Given the description of an element on the screen output the (x, y) to click on. 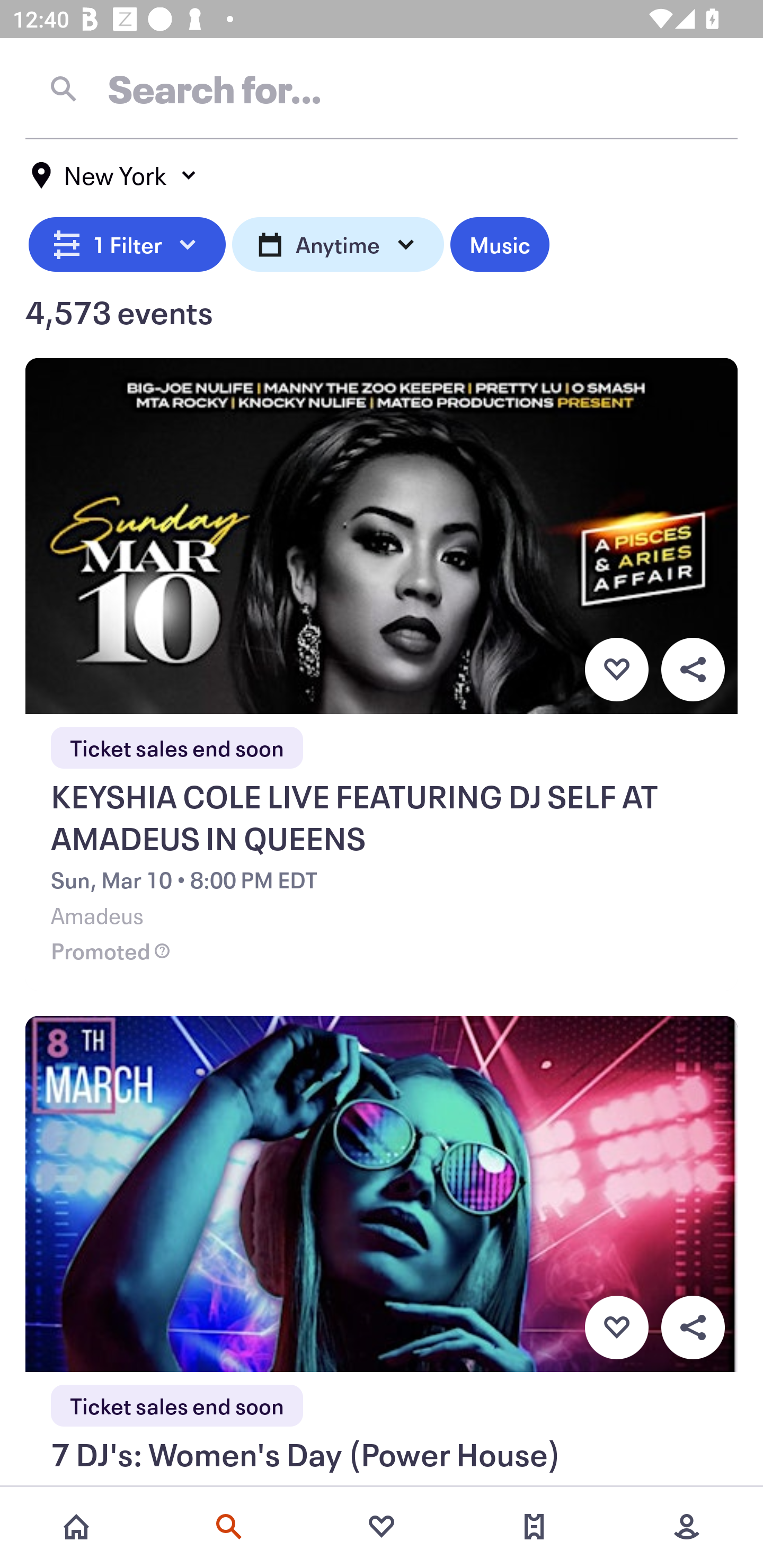
Search for… (381, 88)
New York (114, 175)
1 Filter (126, 241)
Anytime (337, 241)
Music (499, 241)
Favorite button (616, 669)
Overflow menu button (692, 669)
Favorite button (616, 1326)
Overflow menu button (692, 1326)
Home (76, 1526)
Search events (228, 1526)
Favorites (381, 1526)
Tickets (533, 1526)
More (686, 1526)
